Given the description of an element on the screen output the (x, y) to click on. 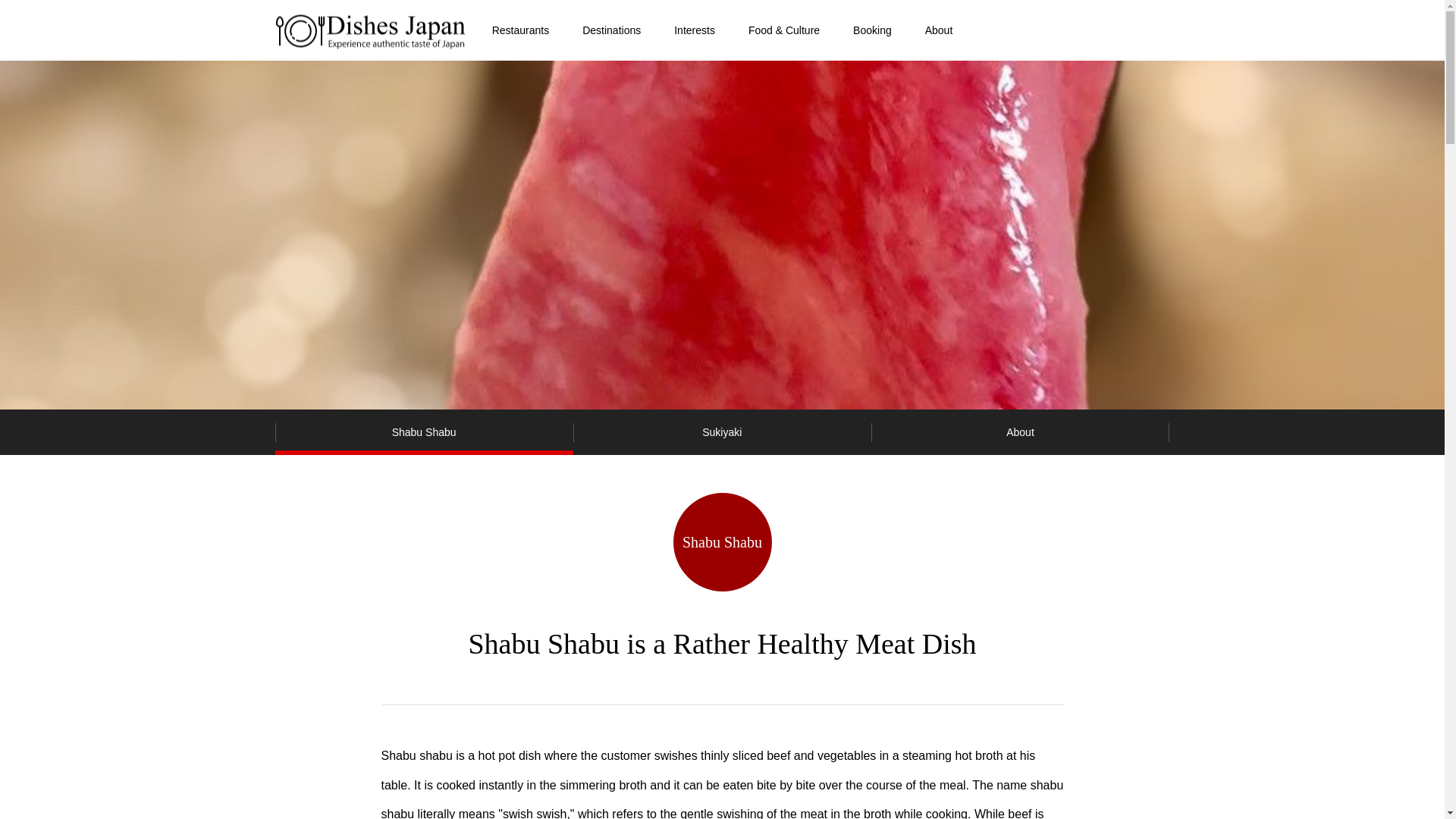
Dishes Japan (370, 30)
About (938, 30)
Restaurants (521, 30)
Sukiyaki (721, 432)
Interests (695, 30)
Booking (871, 30)
Shabu Shabu (423, 432)
About (1019, 432)
Destinations (612, 30)
